Given the description of an element on the screen output the (x, y) to click on. 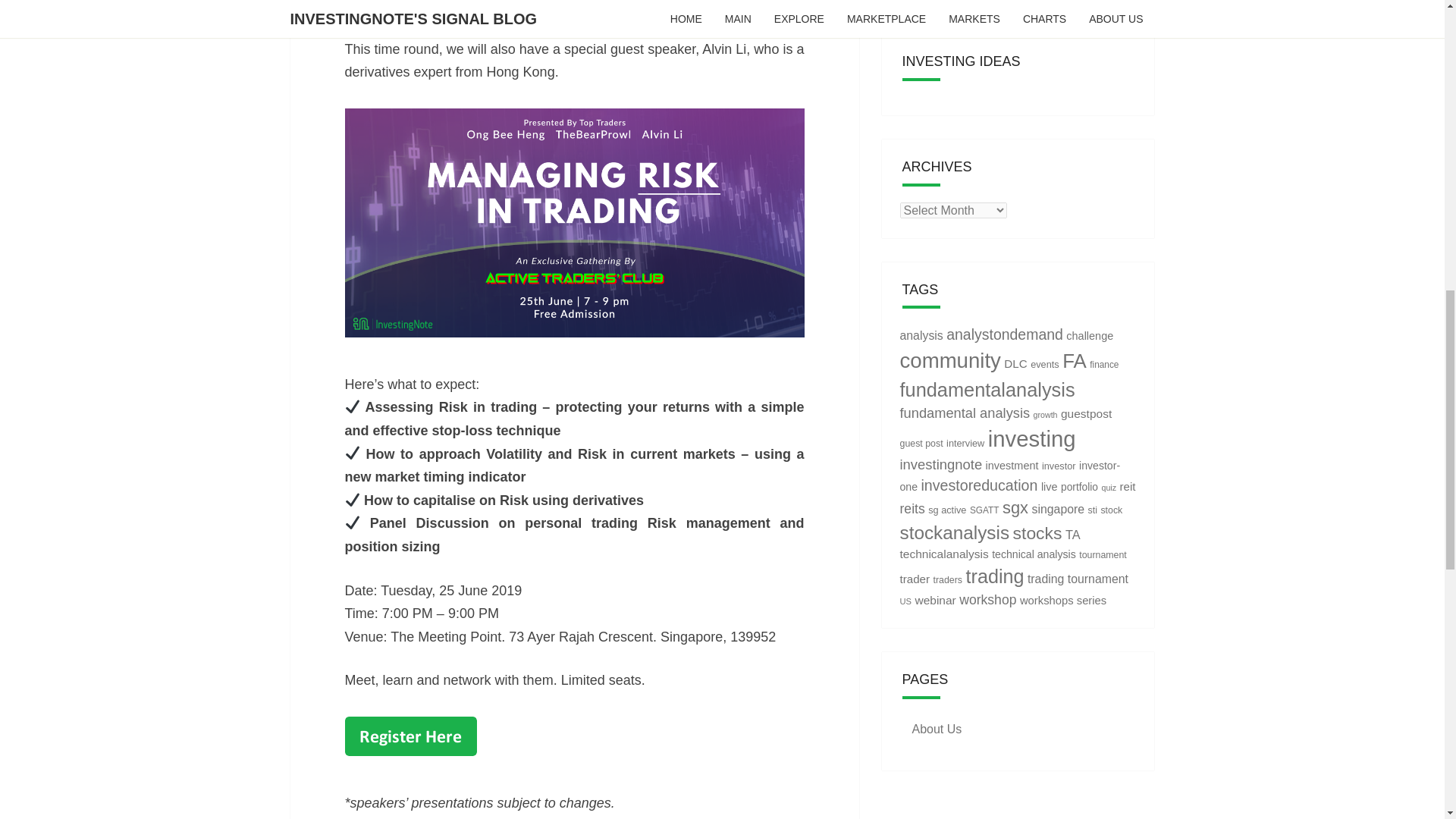
analysis (920, 335)
analystondemand (1004, 334)
FA (1074, 360)
community (949, 360)
challenge (1089, 336)
events (1044, 364)
DLC (1015, 363)
